Given the description of an element on the screen output the (x, y) to click on. 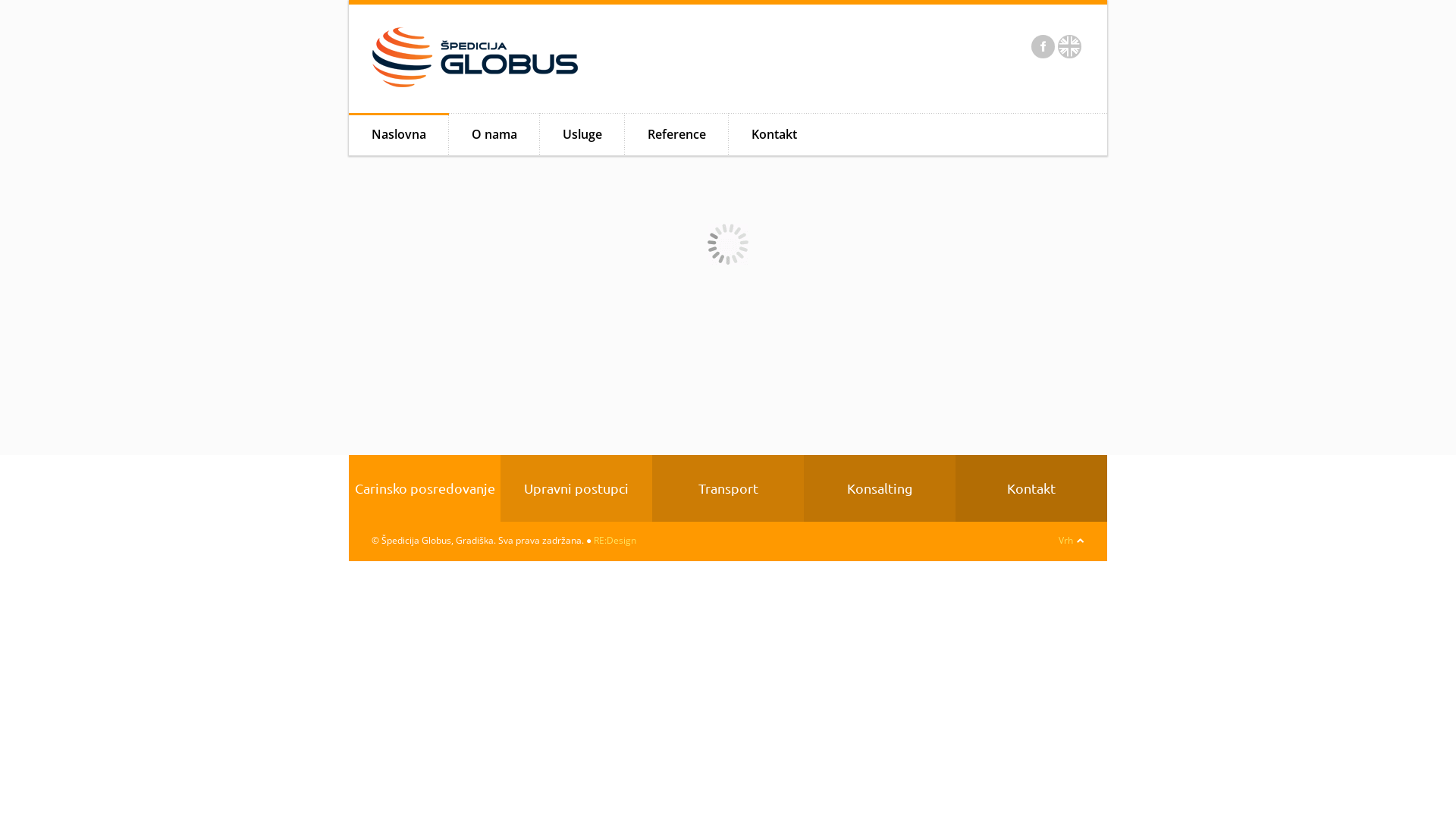
RE:Design Element type: text (614, 539)
Naslovna Element type: text (398, 135)
O nama Element type: text (493, 135)
Kontakt Element type: text (773, 135)
Reference Element type: text (676, 135)
Konsalting Element type: text (879, 488)
Usluge Element type: text (581, 135)
Kontakt Element type: text (1031, 488)
Vrh Element type: text (1065, 539)
Upravni postupci Element type: text (576, 488)
Transport Element type: text (727, 488)
Carinsko posredovanje Element type: text (424, 488)
